Given the description of an element on the screen output the (x, y) to click on. 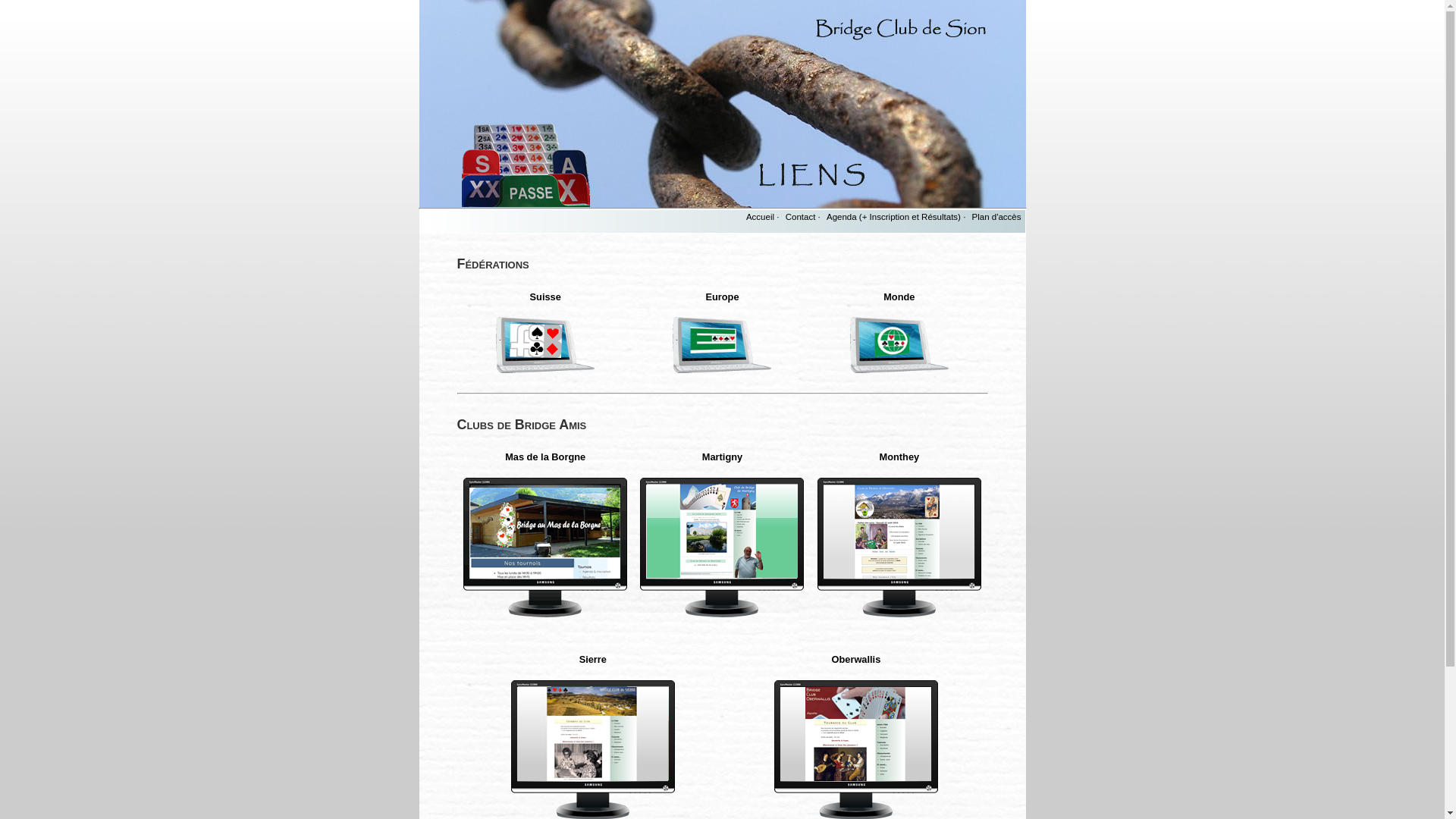
Europe Element type: text (721, 296)
Suisse Element type: text (545, 296)
 World Bridge Federation  Element type: hover (899, 344)
Martigny Element type: text (722, 456)
Sierre Element type: text (592, 659)
Oberwallis Element type: text (856, 659)
Contact Element type: text (800, 216)
Monde Element type: text (898, 296)
Mas de la Borgne Element type: text (545, 456)
 European Bridge League  Element type: hover (721, 344)
Monthey Element type: text (899, 456)
 Cliquer pour aller sur le site du Club de Bridge de Sierre  Element type: hover (721, 547)
Accueil Element type: text (760, 216)
